Given the description of an element on the screen output the (x, y) to click on. 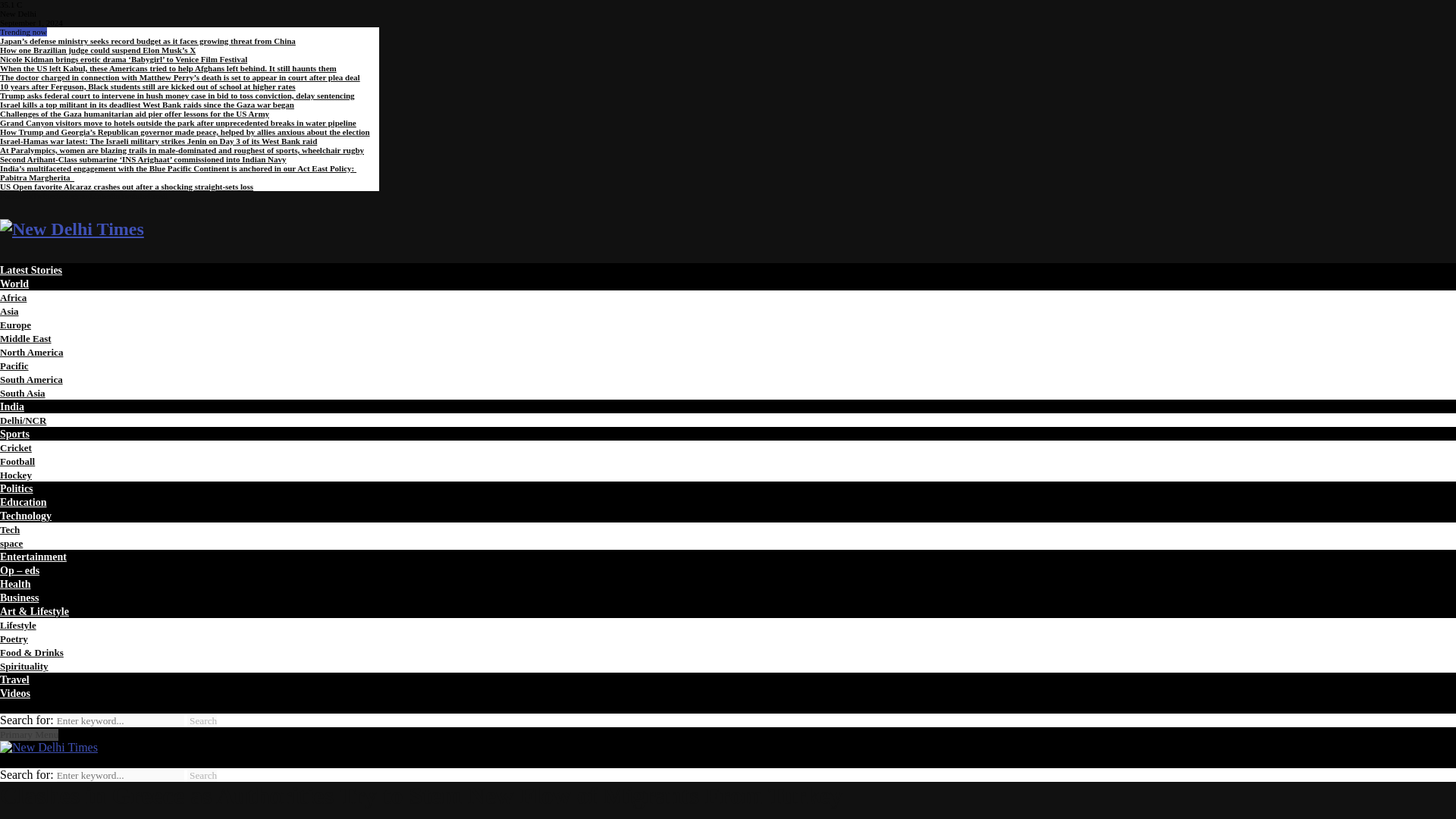
Email (157, 194)
Linkedin (103, 194)
Africa (13, 297)
Youtube (133, 194)
Linkedin (103, 194)
South Asia (22, 392)
Sports (14, 433)
Cricket (16, 447)
